Given the description of an element on the screen output the (x, y) to click on. 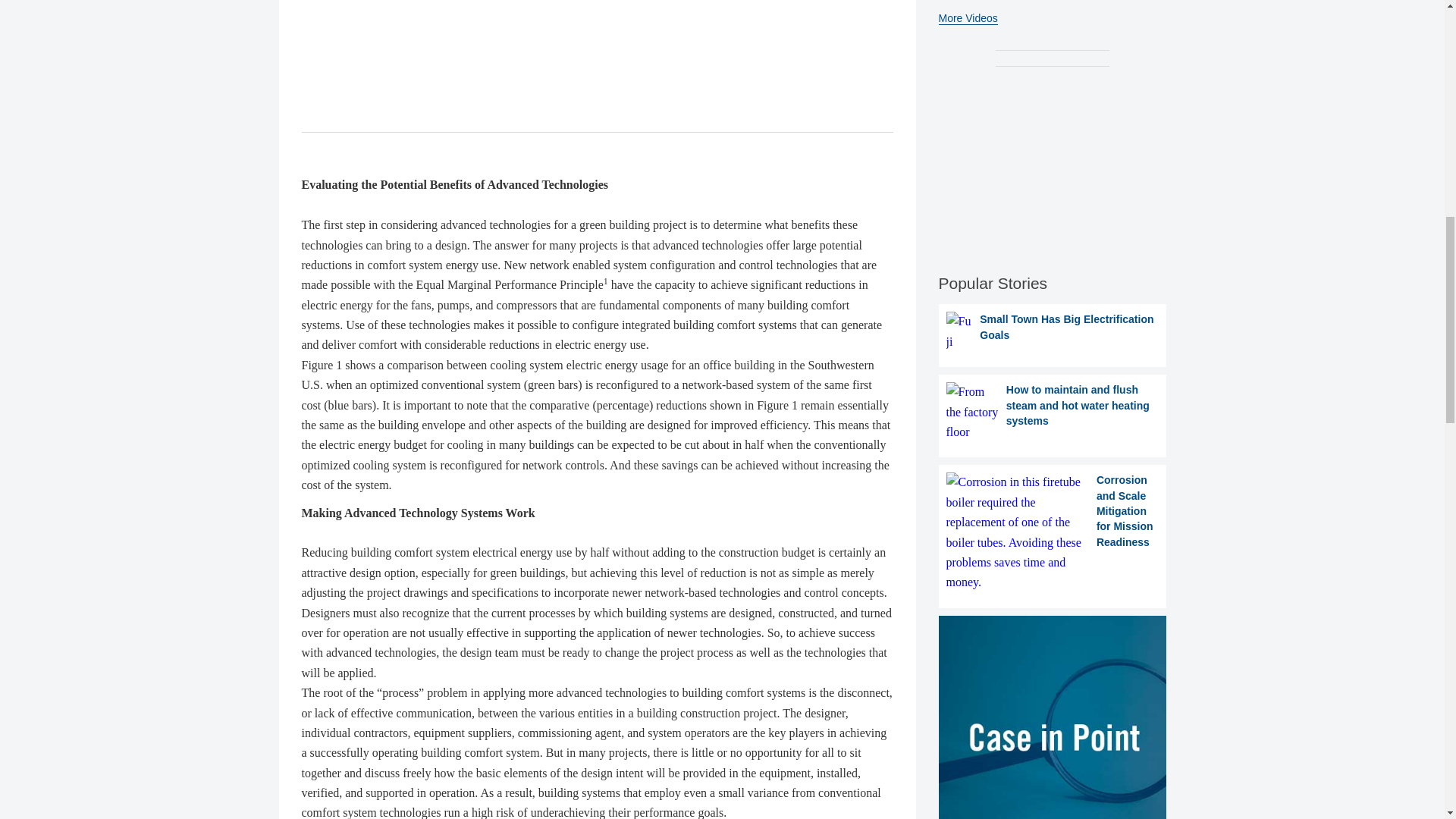
Corrosion and Scale Mitigation for Mission Readiness (1052, 532)
Small Town Has Big Electrification Goals (1052, 332)
